Given the description of an element on the screen output the (x, y) to click on. 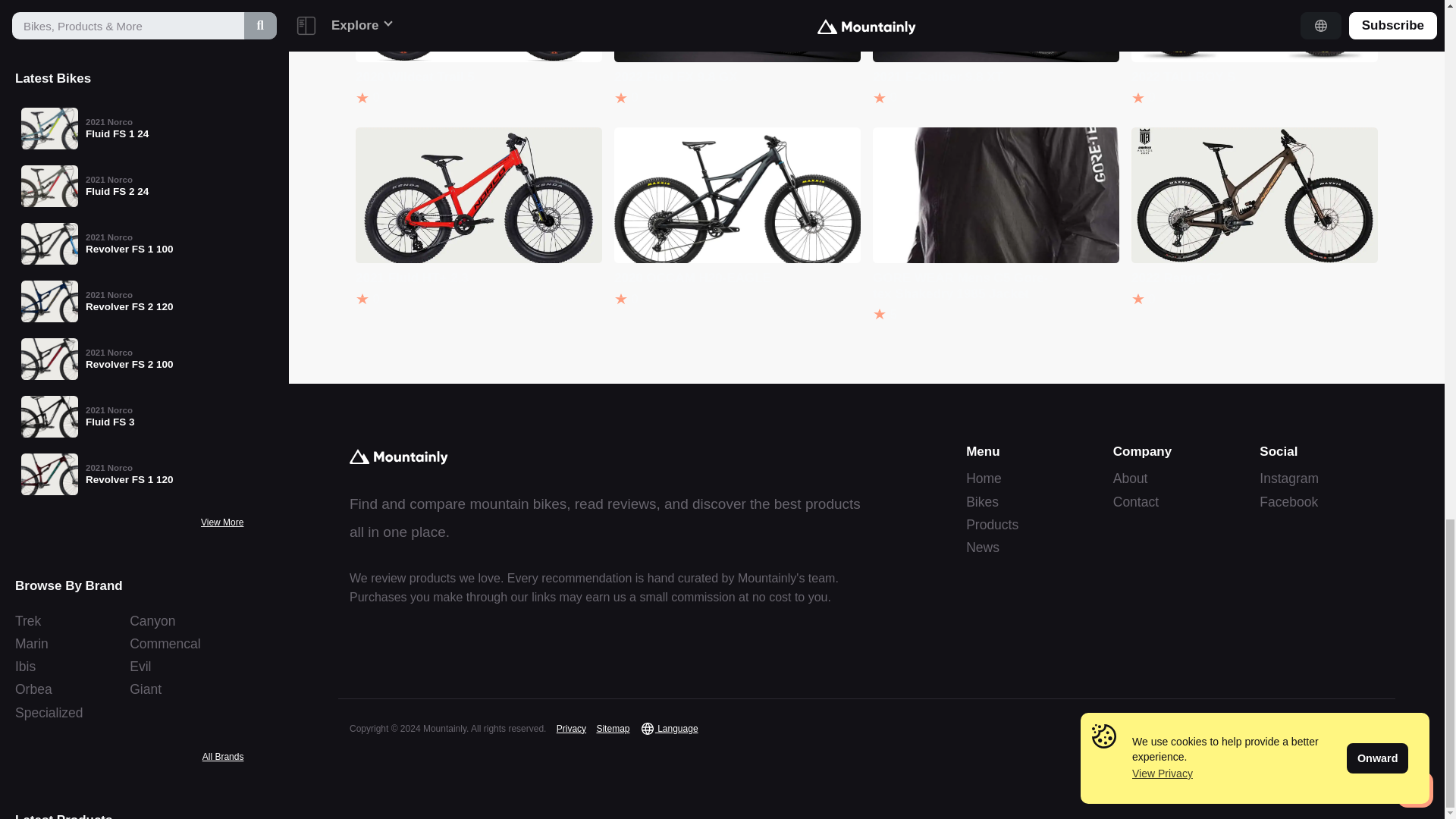
Mountainly Logo (398, 456)
